Given the description of an element on the screen output the (x, y) to click on. 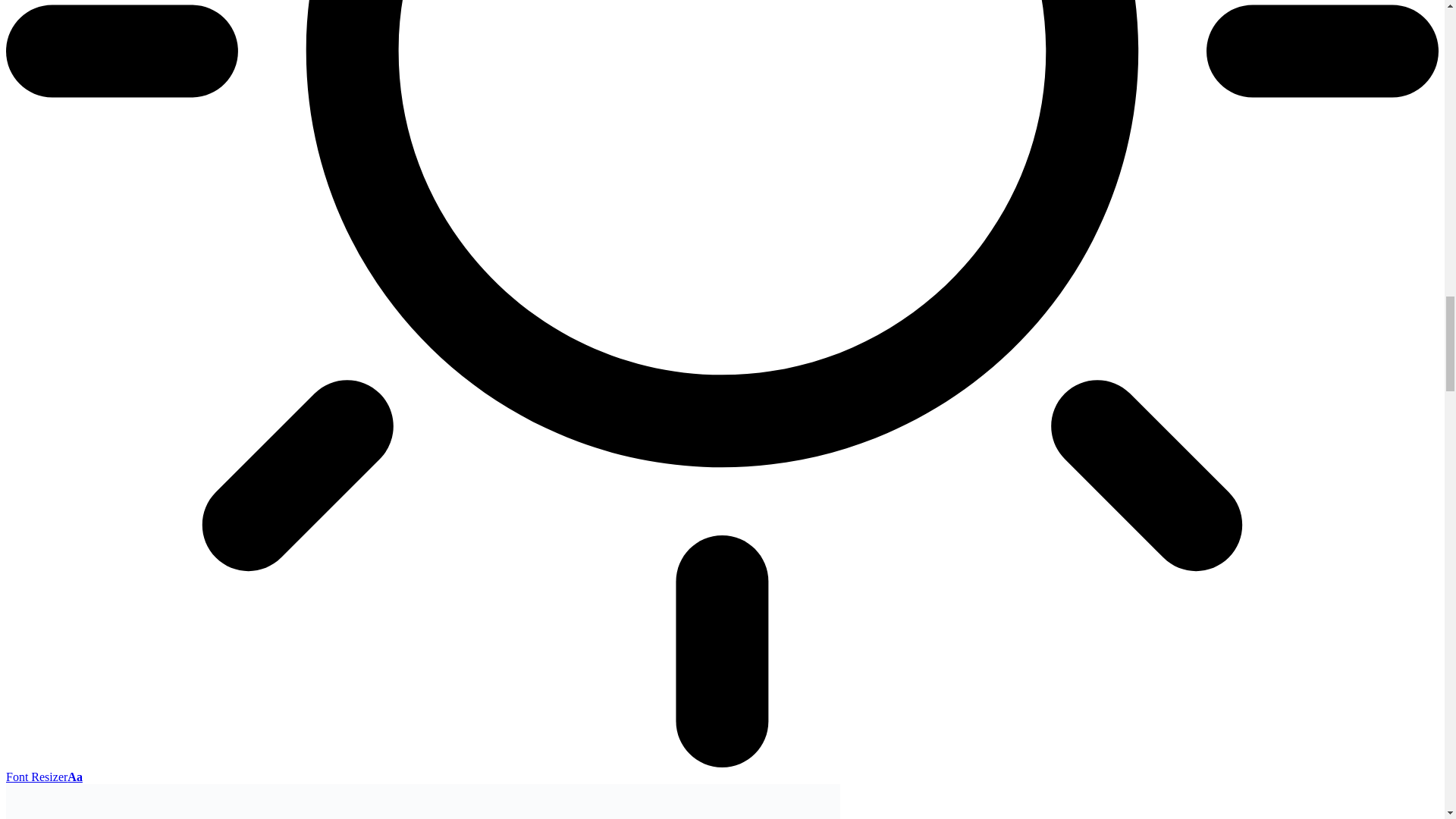
Font ResizerAa (43, 776)
